Given the description of an element on the screen output the (x, y) to click on. 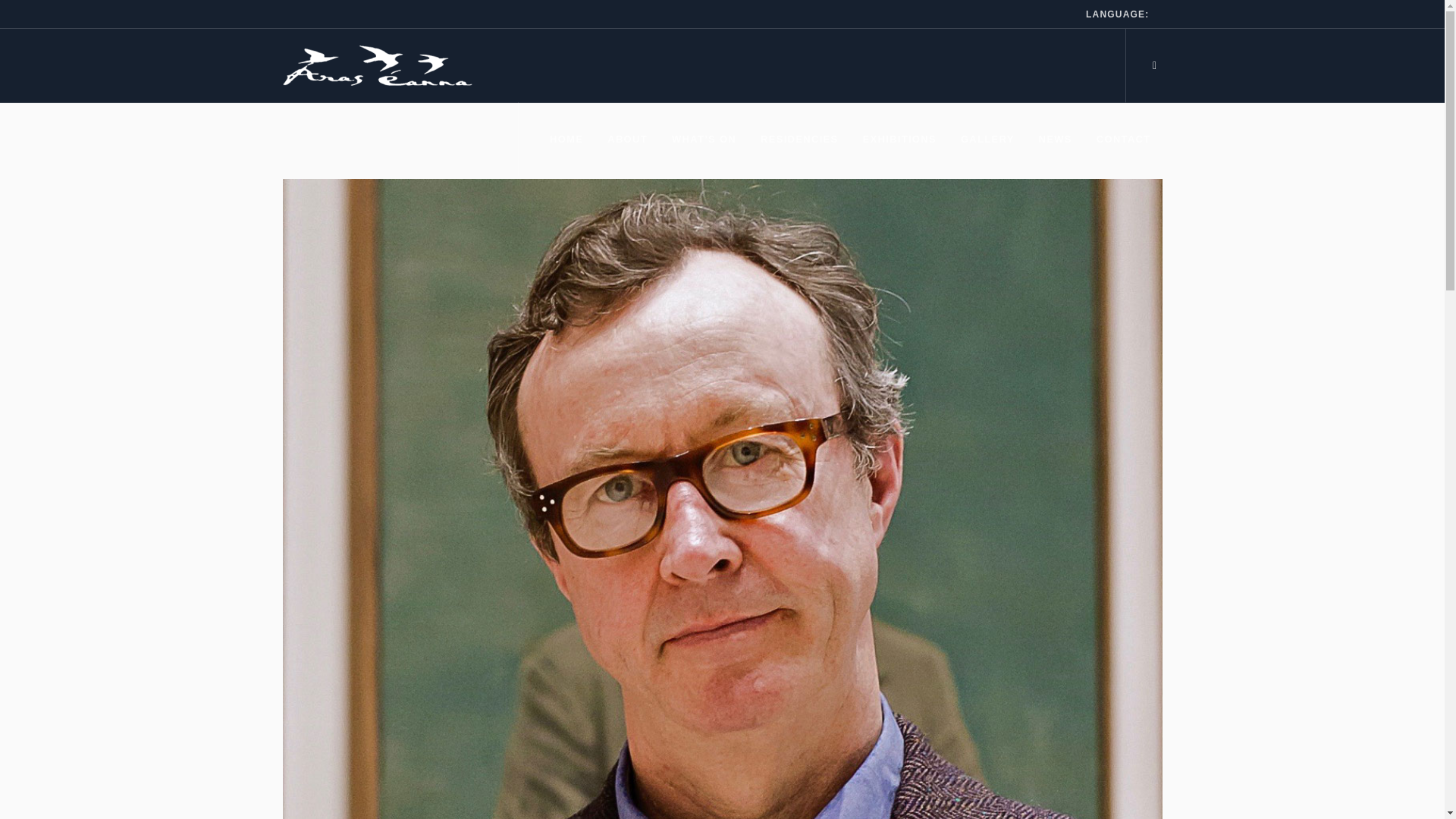
EXHIBITIONS (898, 139)
LANGUAGE: (1117, 13)
CONTACT (1122, 139)
GALLERY (987, 139)
RESIDENCIES (798, 139)
